Given the description of an element on the screen output the (x, y) to click on. 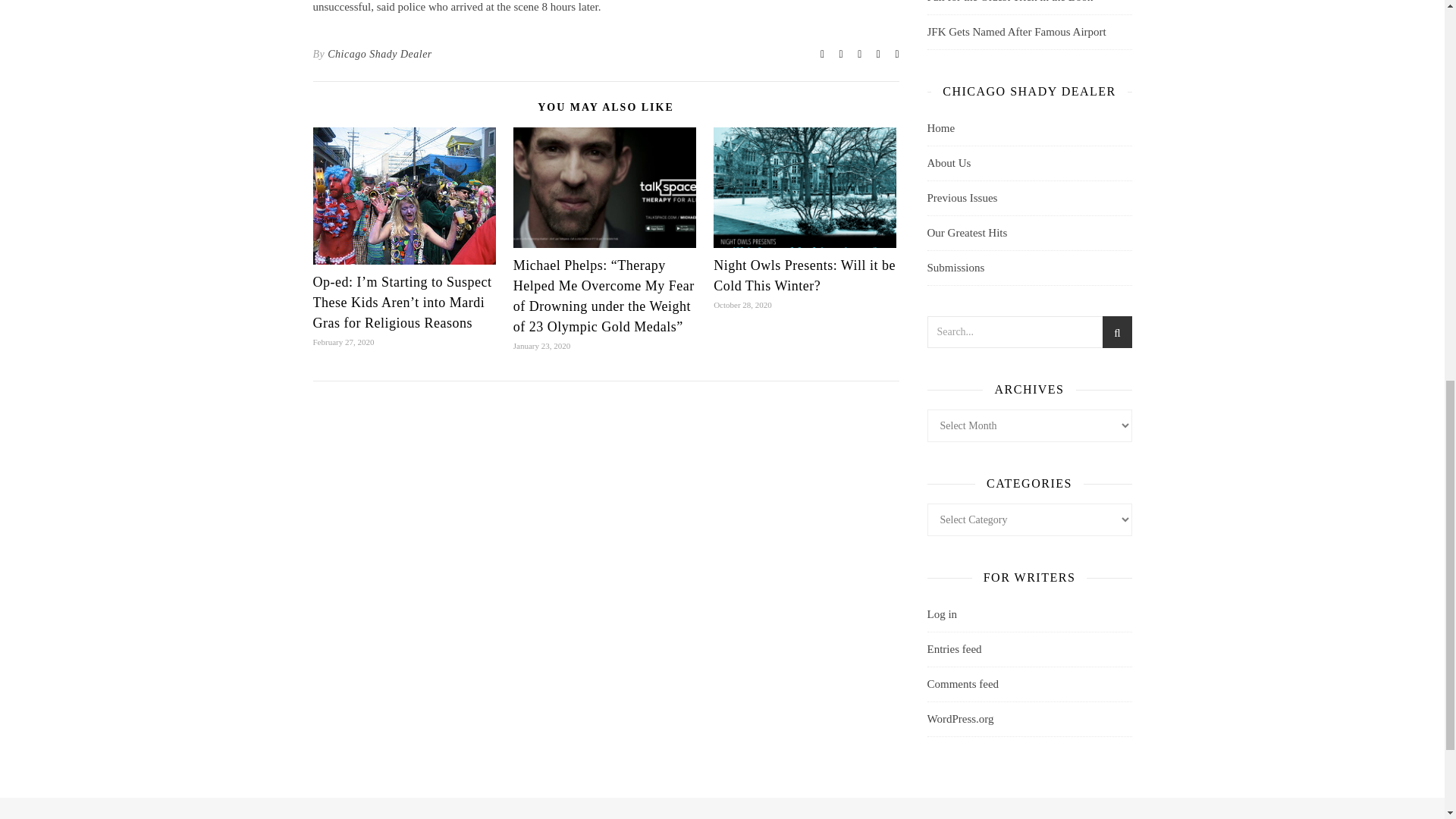
Chicago Shady Dealer (379, 54)
JFK Gets Named After Famous Airport (1015, 31)
Posts by Chicago Shady Dealer (379, 54)
Night Owls Presents: Will it be Cold This Winter? (804, 275)
